Given the description of an element on the screen output the (x, y) to click on. 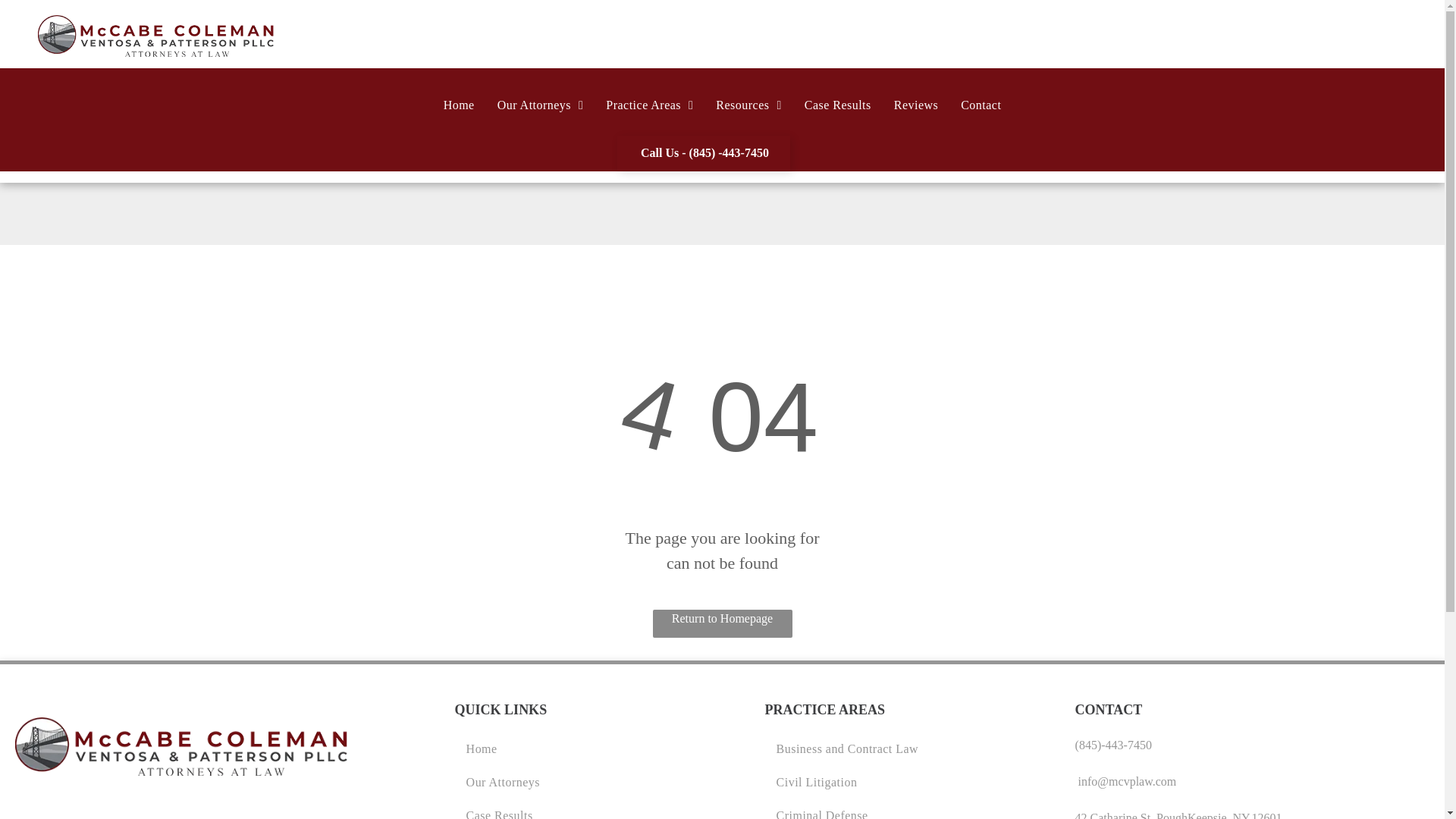
Resources (748, 104)
Case Results (837, 104)
Home (459, 104)
Our Attorneys (540, 104)
Contact (980, 104)
Practice Areas (649, 104)
Reviews (915, 104)
